Given the description of an element on the screen output the (x, y) to click on. 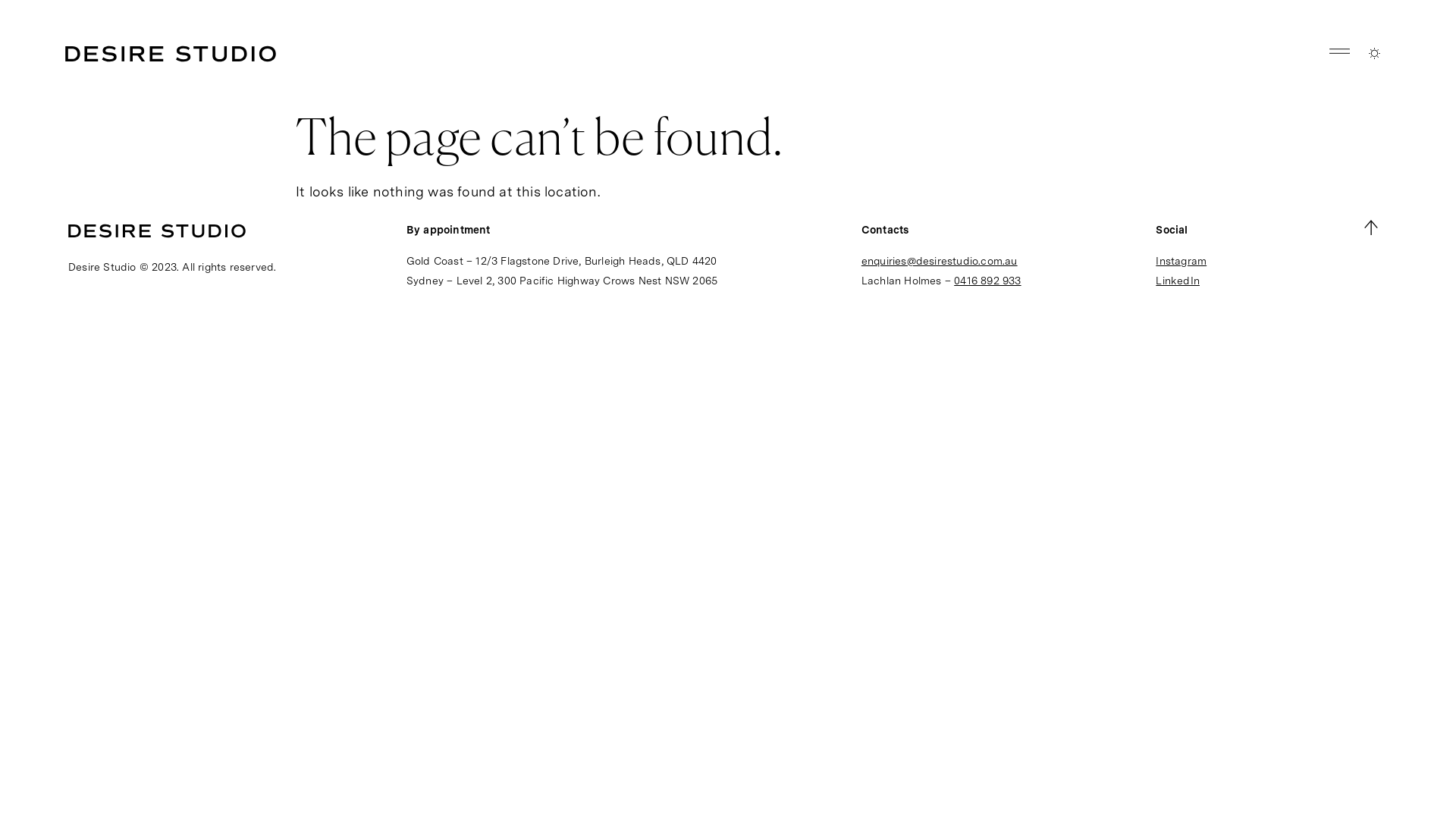
0416 892 933 Element type: text (986, 280)
LinkedIn Element type: text (1177, 280)
Instagram Element type: text (1180, 260)
enquiries@desirestudio.com.au Element type: text (939, 260)
